Given the description of an element on the screen output the (x, y) to click on. 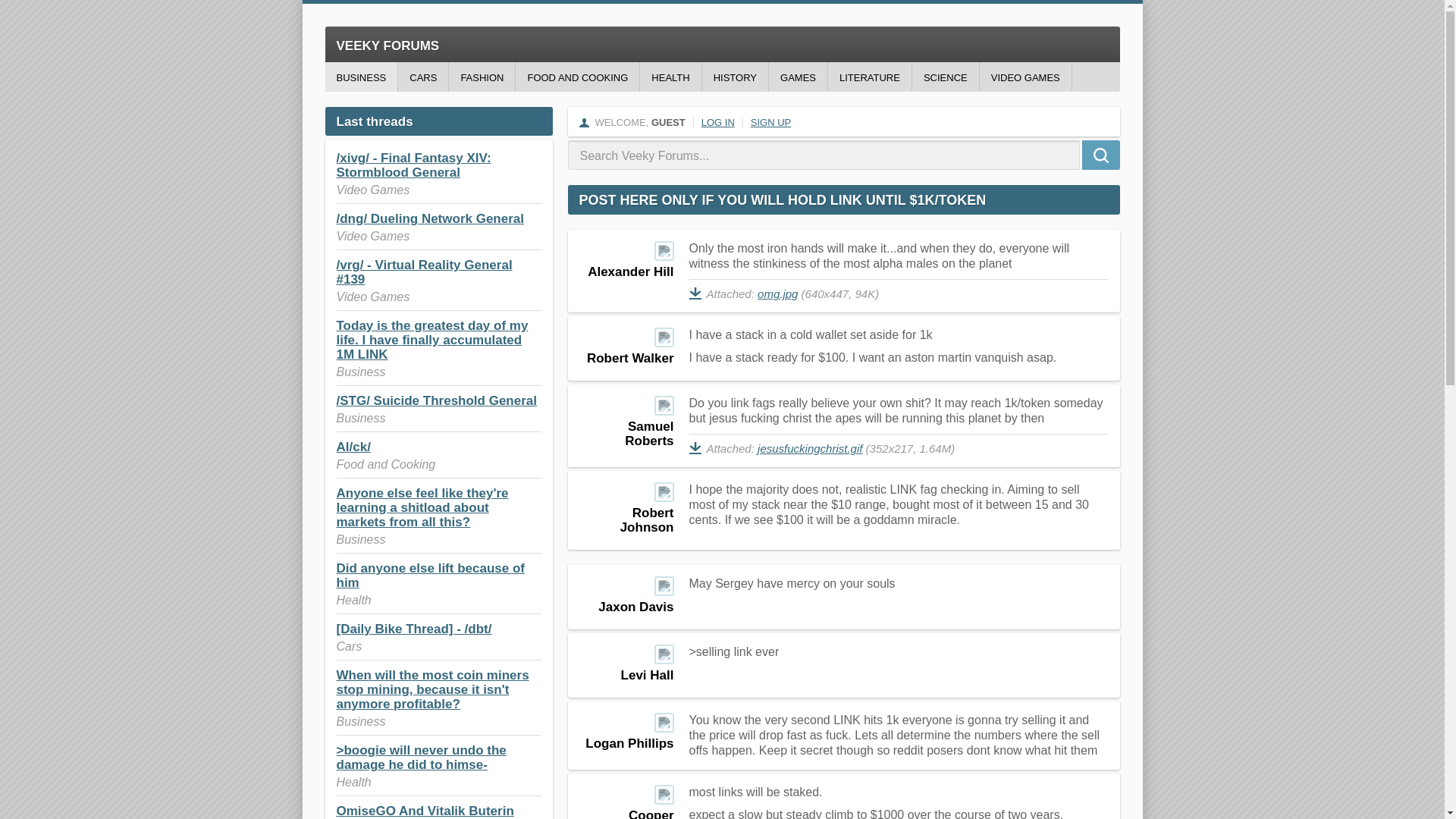
Did anyone else lift because of him (430, 575)
VEEKY FORUMS (721, 44)
Did anyone else lift because of him (430, 575)
omg.jpg (777, 293)
LITERATURE (869, 76)
SIGN UP (770, 122)
LOG IN (718, 122)
FOOD AND COOKING (577, 76)
SCIENCE (945, 76)
FASHION (481, 76)
BUSINESS (360, 76)
HISTORY (734, 76)
